Given the description of an element on the screen output the (x, y) to click on. 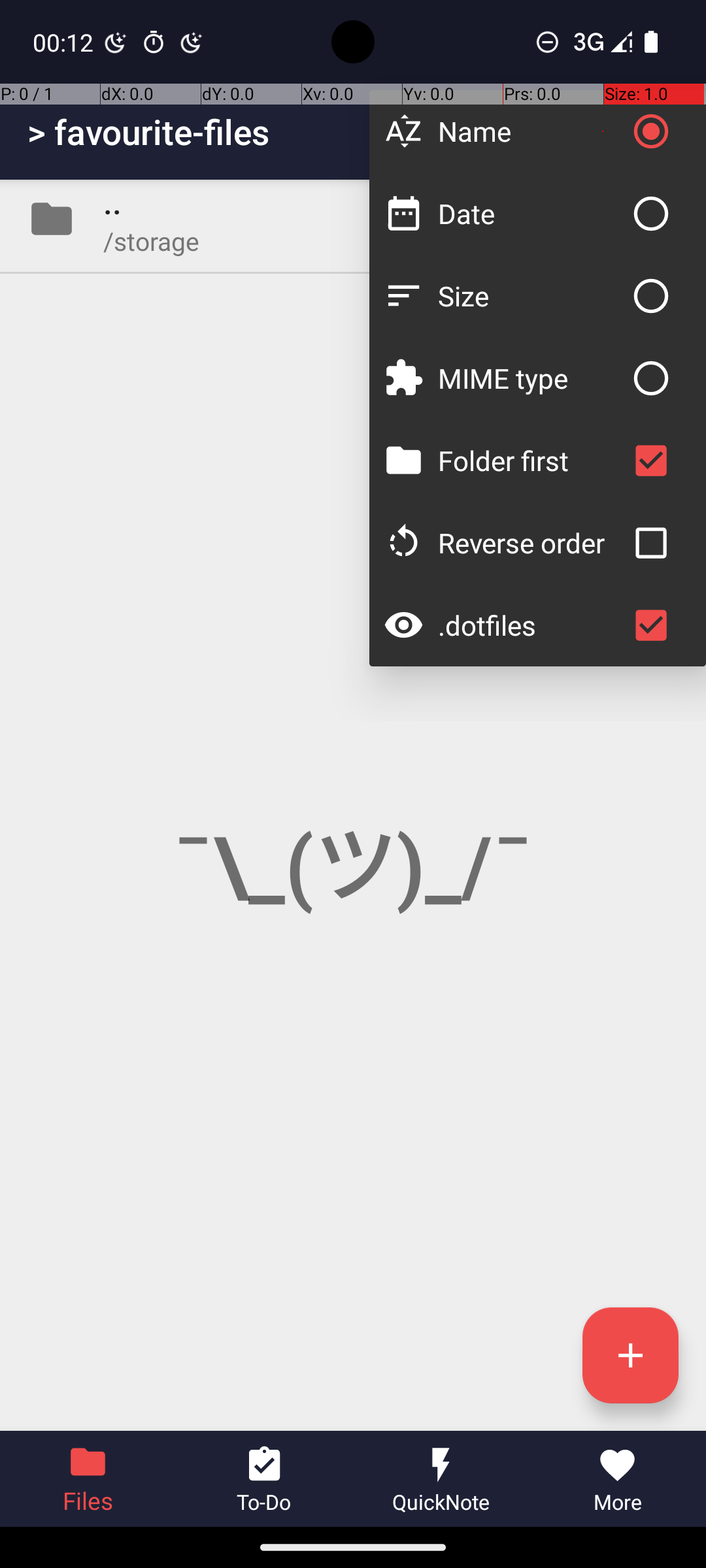
00:12 Element type: android.widget.TextView (64, 41)
Digital Wellbeing notification: Do Not Disturb for Bedtime mode Element type: android.widget.ImageView (191, 41)
